Given the description of an element on the screen output the (x, y) to click on. 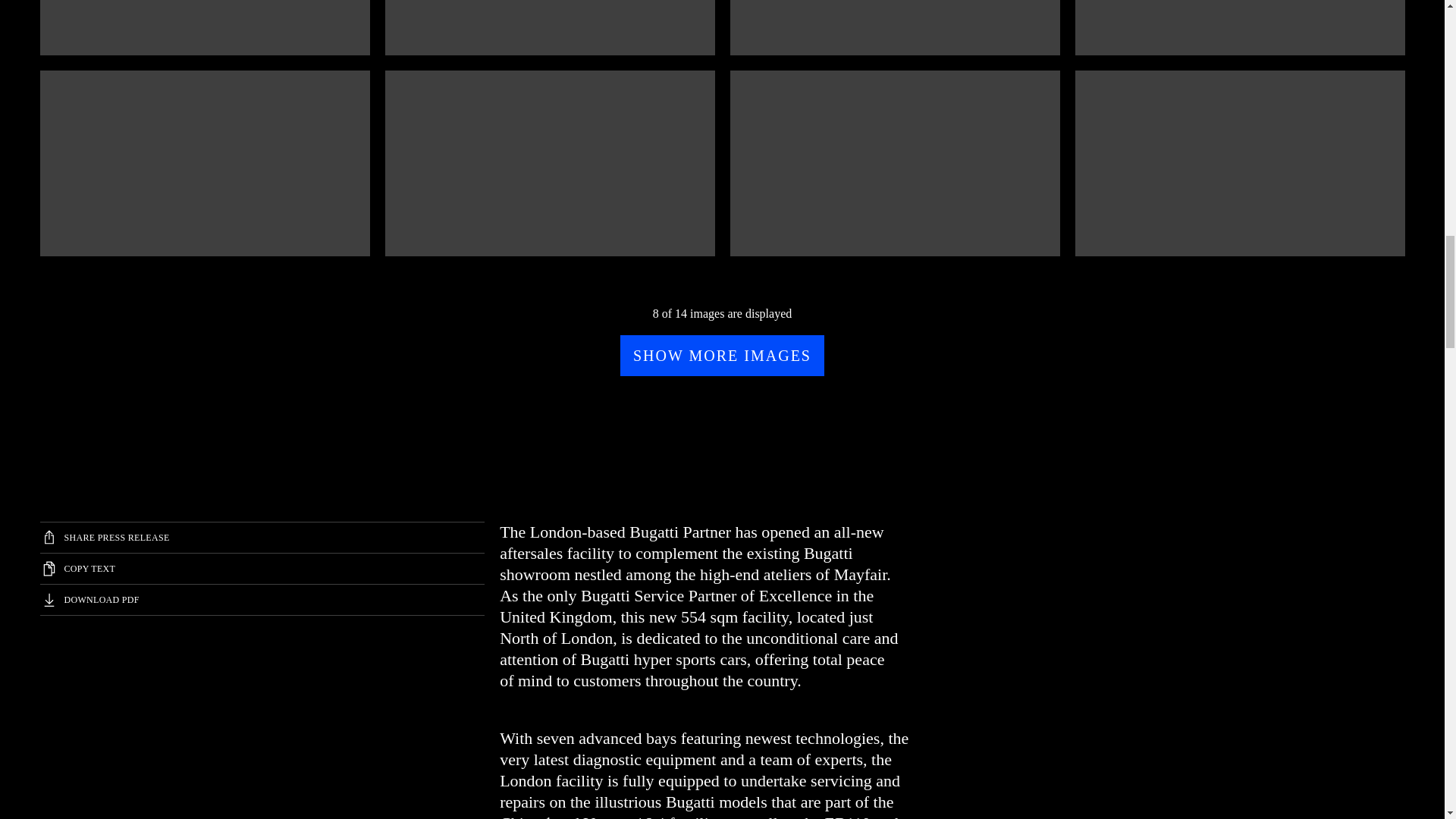
COPY TEXT (261, 568)
SHOW MORE IMAGES (722, 354)
SHARE PRESS RELEASE (261, 537)
DOWNLOAD PDF (261, 599)
